Given the description of an element on the screen output the (x, y) to click on. 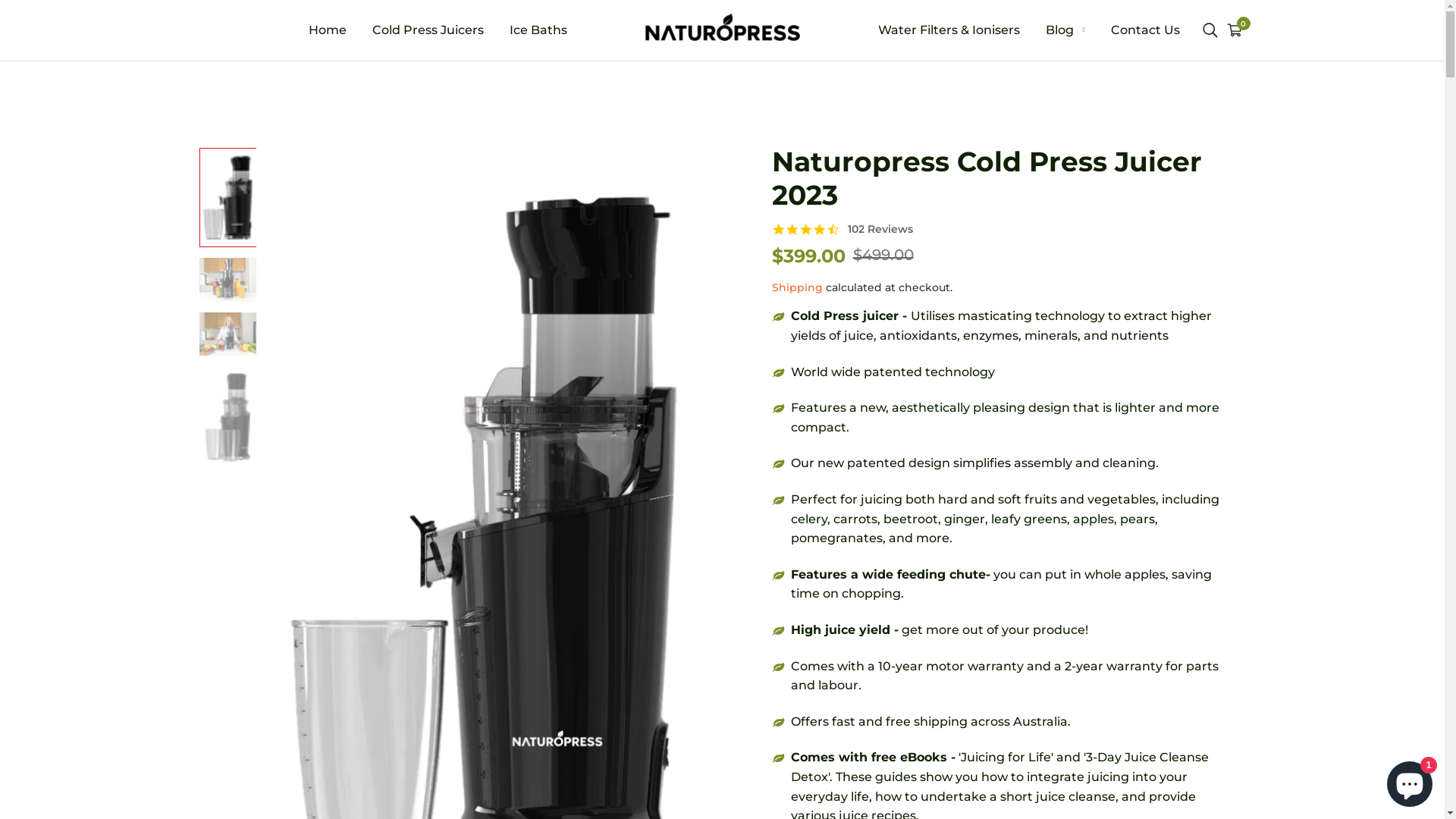
Naturopress Element type: hover (722, 27)
Contact Us Element type: text (1145, 30)
Shopify online store chat Element type: hover (1409, 780)
0 Element type: text (1239, 30)
102 Reviews Element type: text (880, 229)
Naturopress Element type: hover (722, 38)
cold press juicer Australia Element type: hover (227, 334)
Water Filters & Ionisers Element type: text (948, 30)
cold press juicer with juicer Element type: hover (227, 279)
Ice Baths Element type: text (538, 30)
Home Element type: text (326, 30)
Shipping Element type: text (796, 287)
Blog Element type: text (1064, 30)
Cold Press Juicers Element type: text (427, 30)
Naturopress cold press juicer 2023 Element type: hover (227, 197)
cold press juicer gloss black Element type: hover (227, 416)
